Given the description of an element on the screen output the (x, y) to click on. 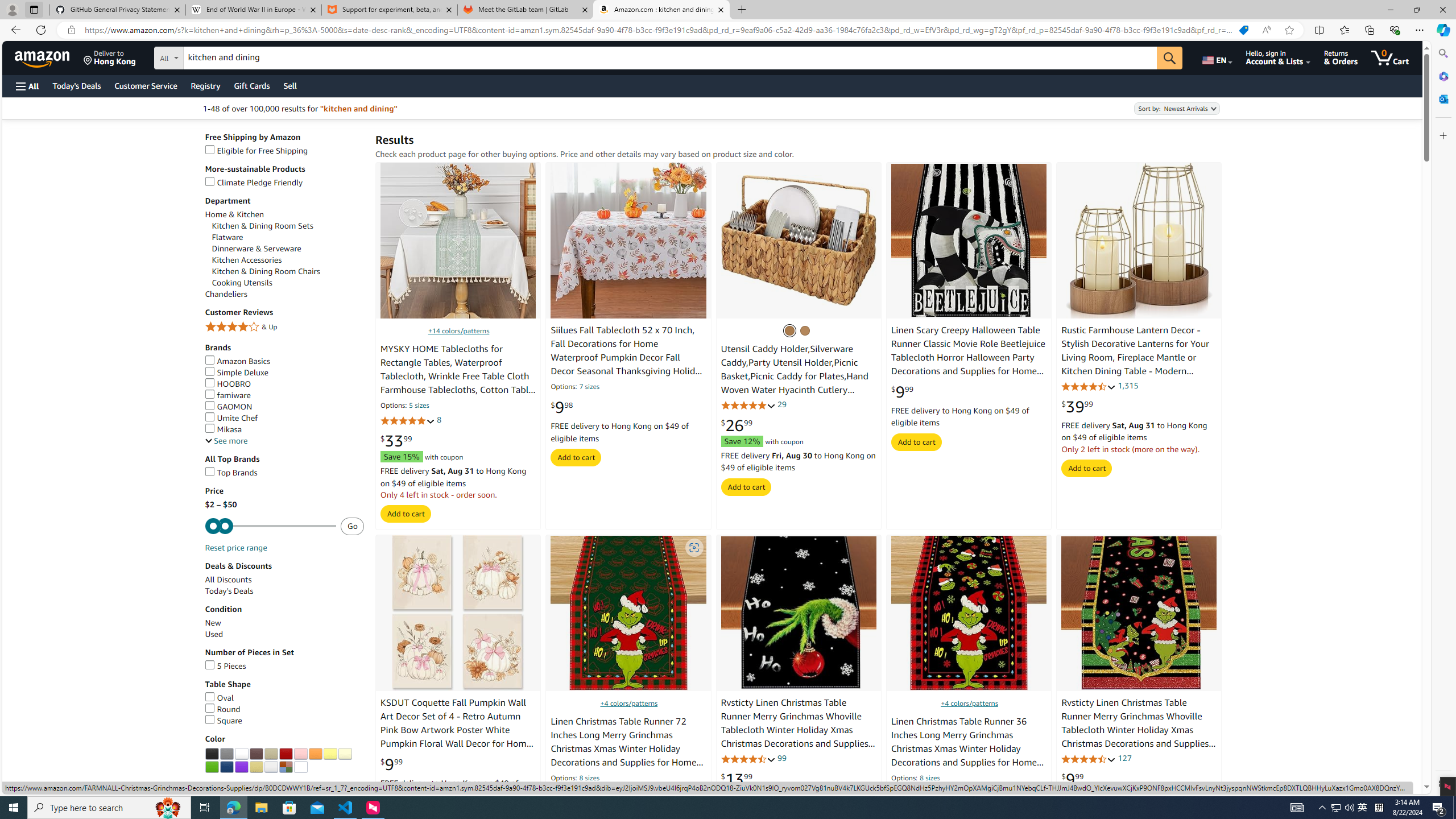
End of World War II in Europe - Wikipedia (253, 9)
4.6 out of 5 stars (1088, 758)
White (241, 753)
8 sizes (929, 778)
Amazon.com : kitchen and dining (660, 9)
Green (211, 766)
Kitchen & Dining Room Sets (262, 225)
99 (782, 757)
Flatware (227, 237)
+14 colors/patterns (458, 329)
AutomationID: p_n_feature_twenty_browse-bin/3254105011 (314, 753)
Kitchen & Dining Room Chairs (287, 271)
famiware (227, 395)
